Given the description of an element on the screen output the (x, y) to click on. 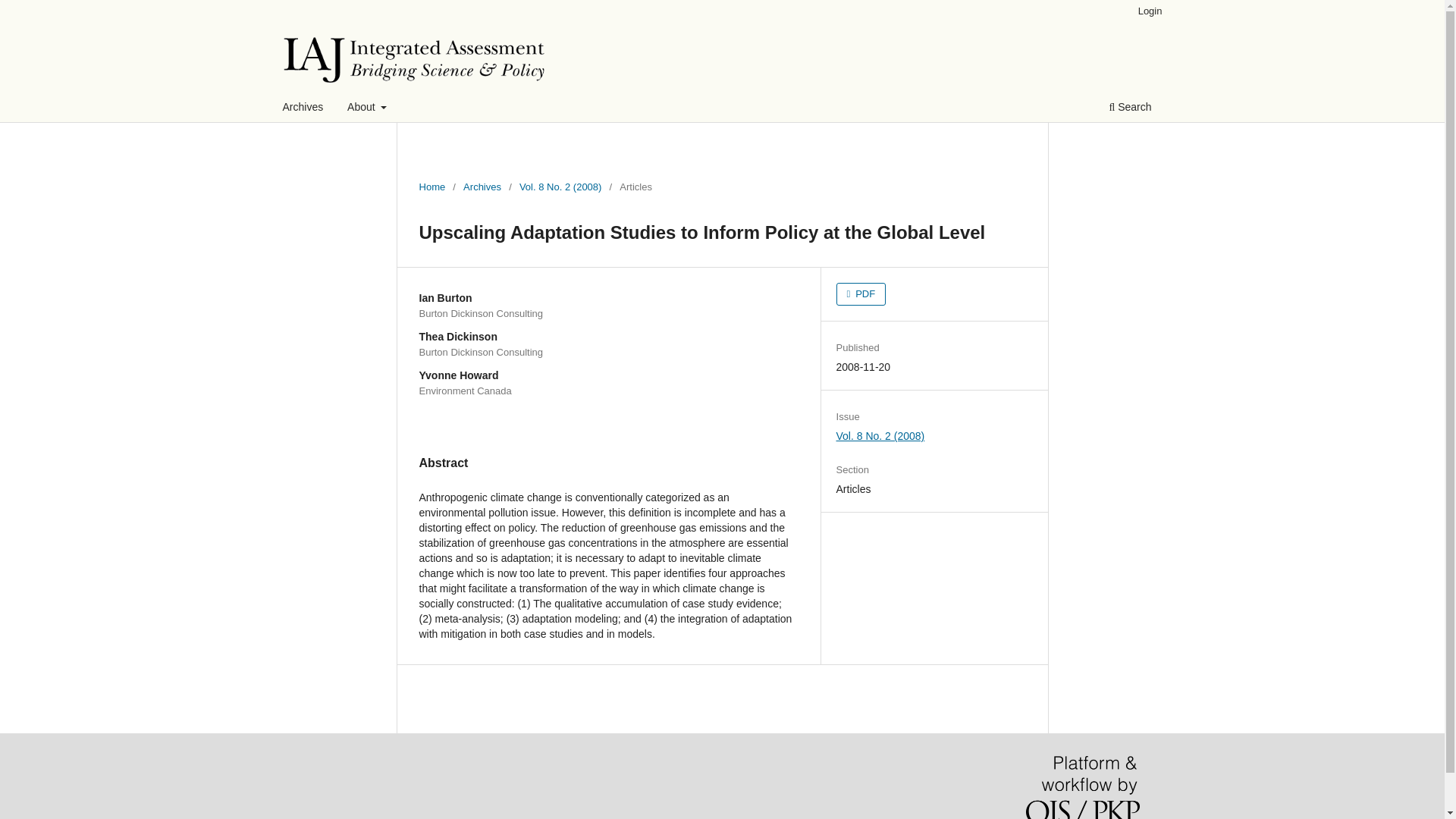
Archives (303, 108)
Archives (481, 186)
About (366, 108)
PDF (860, 293)
Login (1150, 11)
Home (432, 186)
Search (1129, 108)
